Given the description of an element on the screen output the (x, y) to click on. 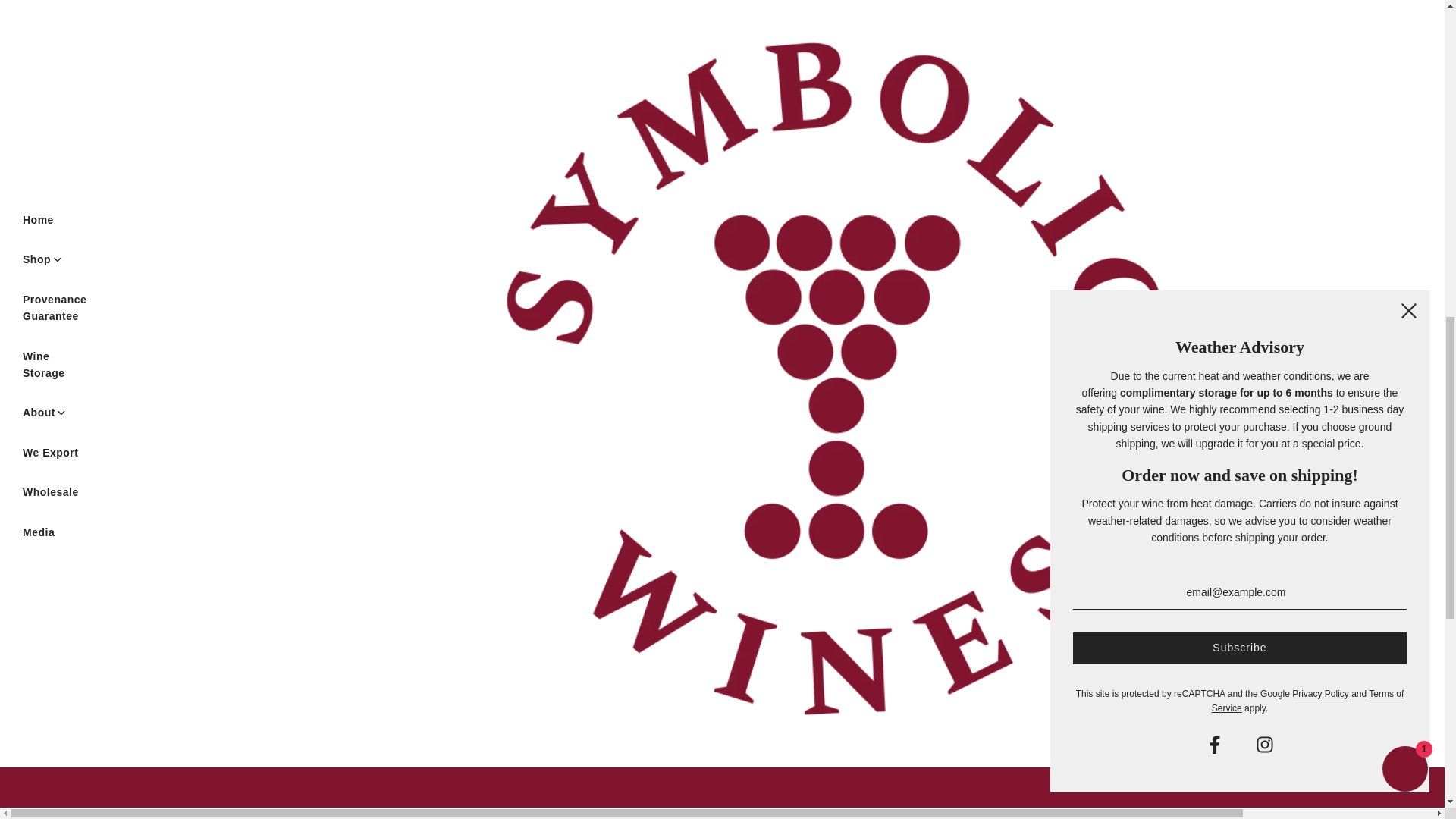
1 (796, 381)
